Given the description of an element on the screen output the (x, y) to click on. 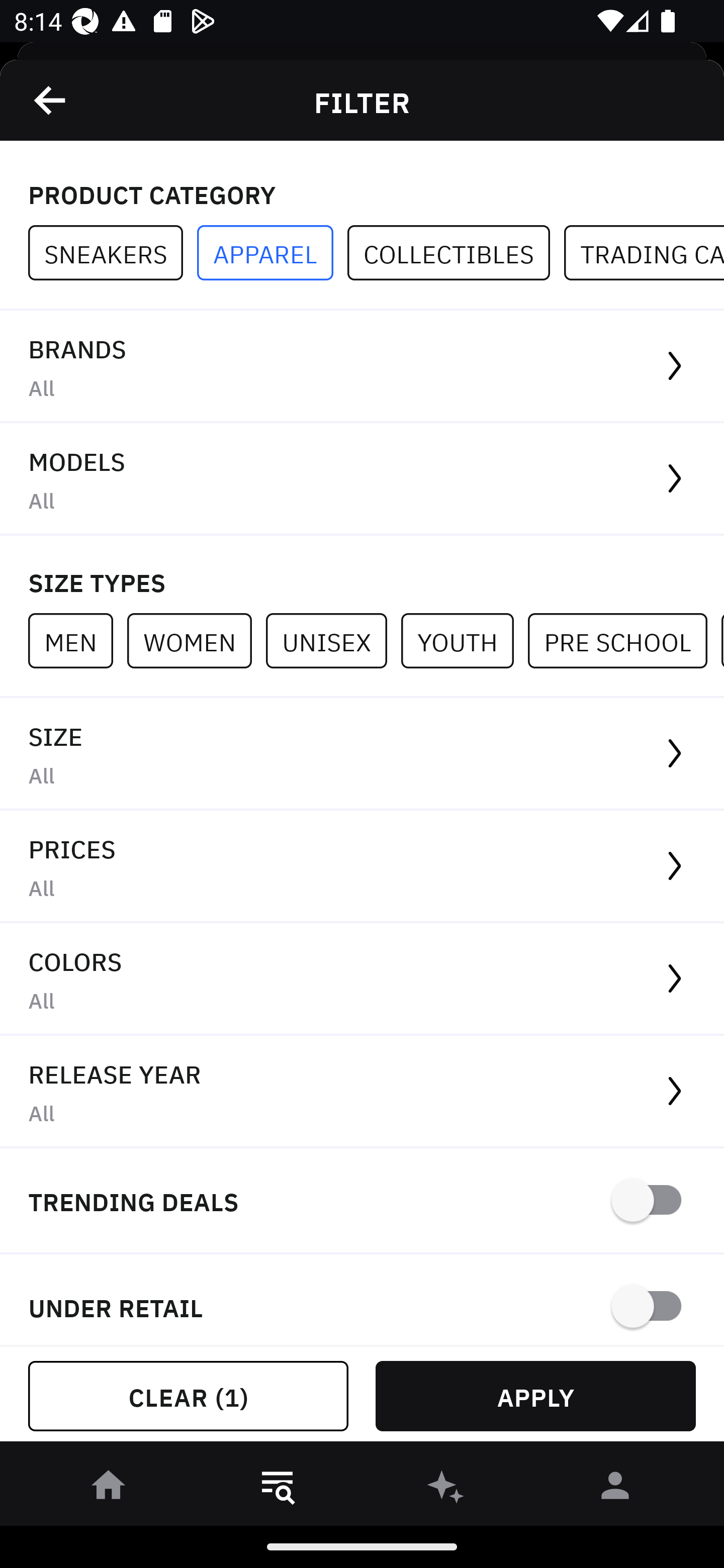
 (50, 100)
SNEAKERS (112, 252)
APPAREL (271, 252)
COLLECTIBLES (455, 252)
TRADING CARDS (643, 252)
BRANDS All (362, 366)
MODELS All (362, 479)
MEN (77, 640)
WOMEN (196, 640)
UNISEX (333, 640)
YOUTH (464, 640)
PRE SCHOOL (624, 640)
SIZE All (362, 753)
PRICES All (362, 866)
COLORS All (362, 979)
RELEASE YEAR All (362, 1091)
TRENDING DEALS (362, 1200)
UNDER RETAIL (362, 1299)
CLEAR (1) (188, 1396)
APPLY (535, 1396)
󰋜 (108, 1488)
󱎸 (277, 1488)
󰫢 (446, 1488)
󰀄 (615, 1488)
